Given the description of an element on the screen output the (x, y) to click on. 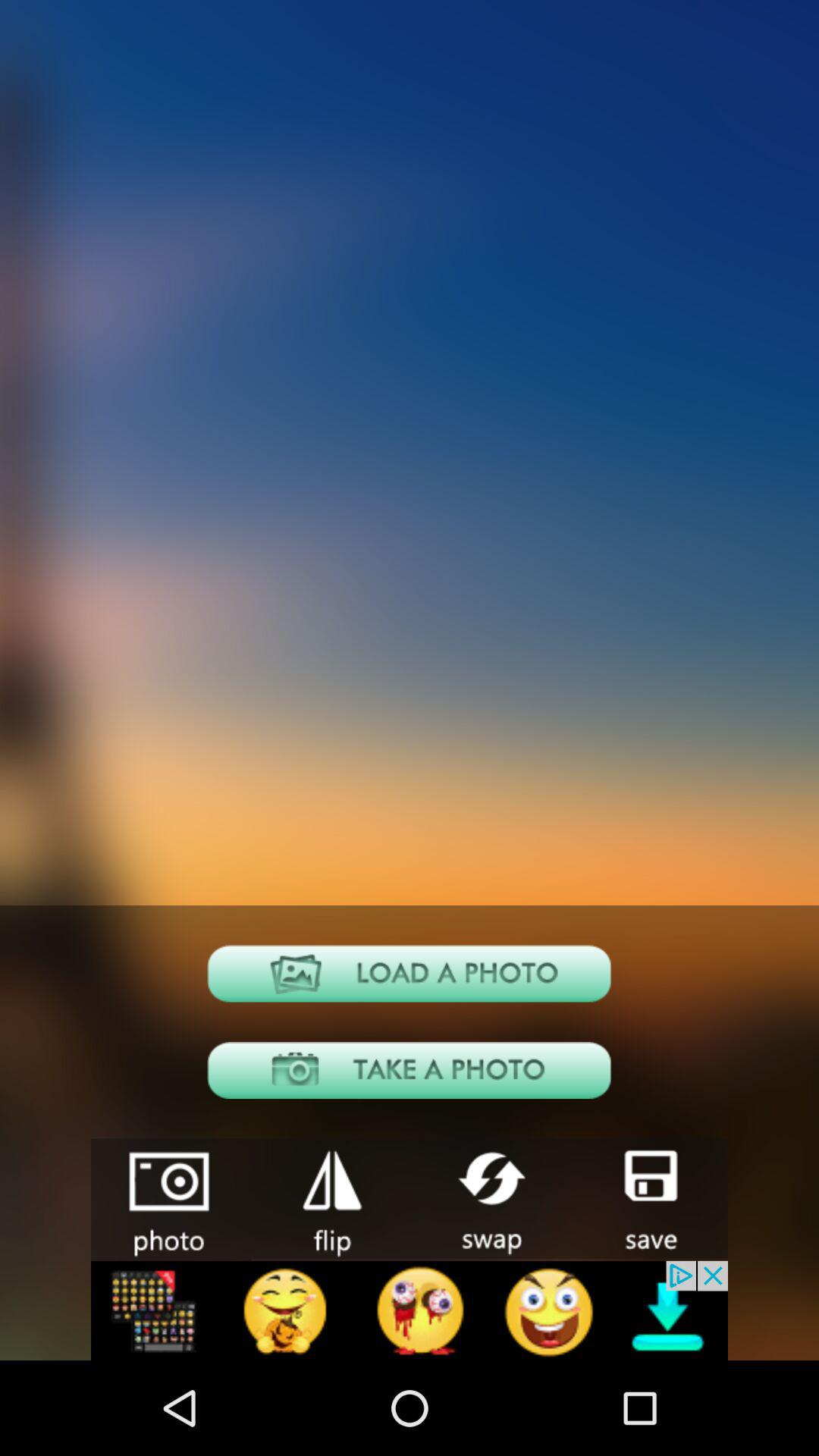
toggle swap image (488, 1198)
